Given the description of an element on the screen output the (x, y) to click on. 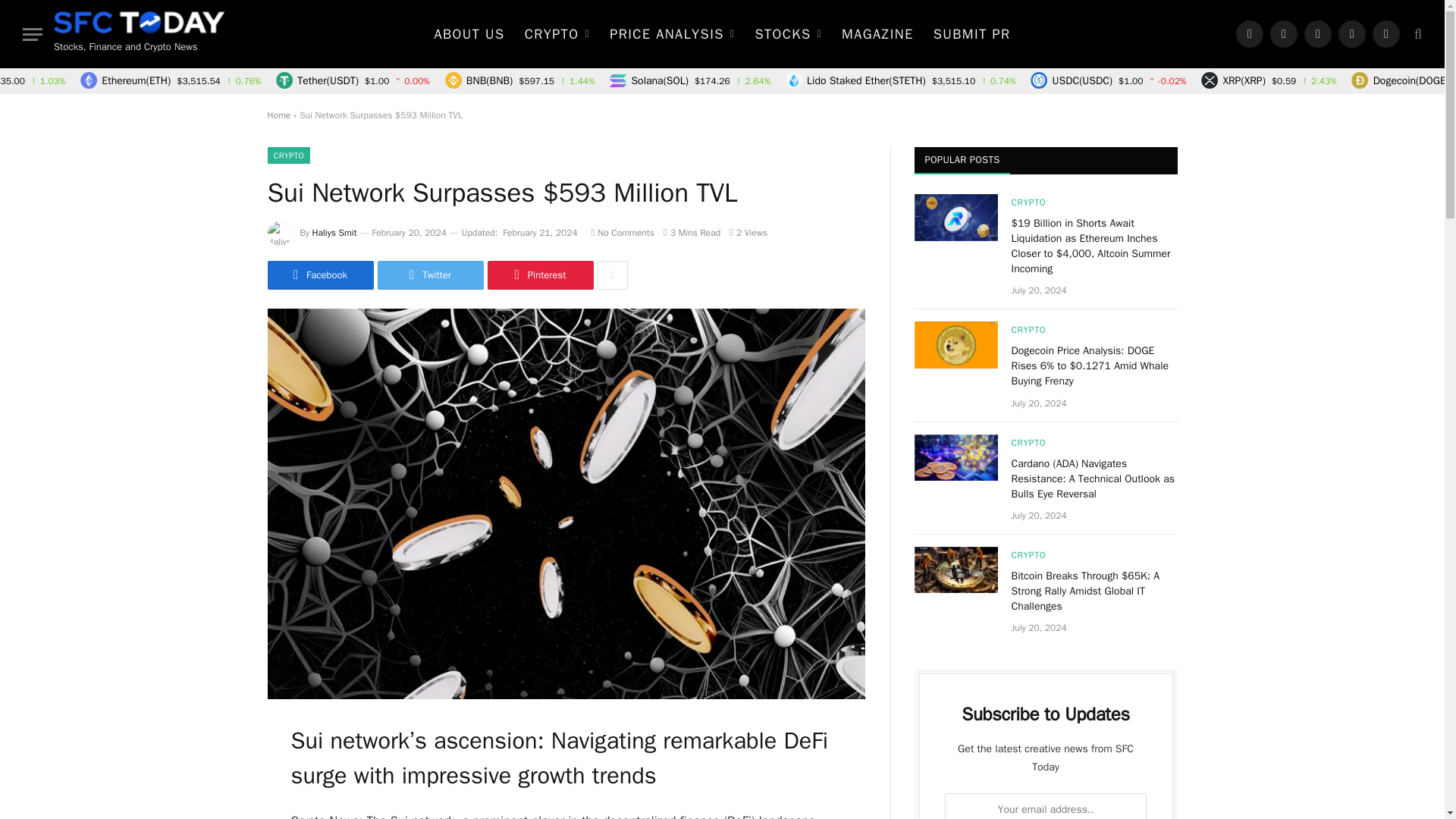
STOCKS (787, 33)
PRICE ANALYSIS (671, 33)
ABOUT US (468, 33)
MAGAZINE (877, 33)
SUBMIT PR (971, 33)
Facebook (1249, 33)
CRYPTO (557, 33)
